Given the description of an element on the screen output the (x, y) to click on. 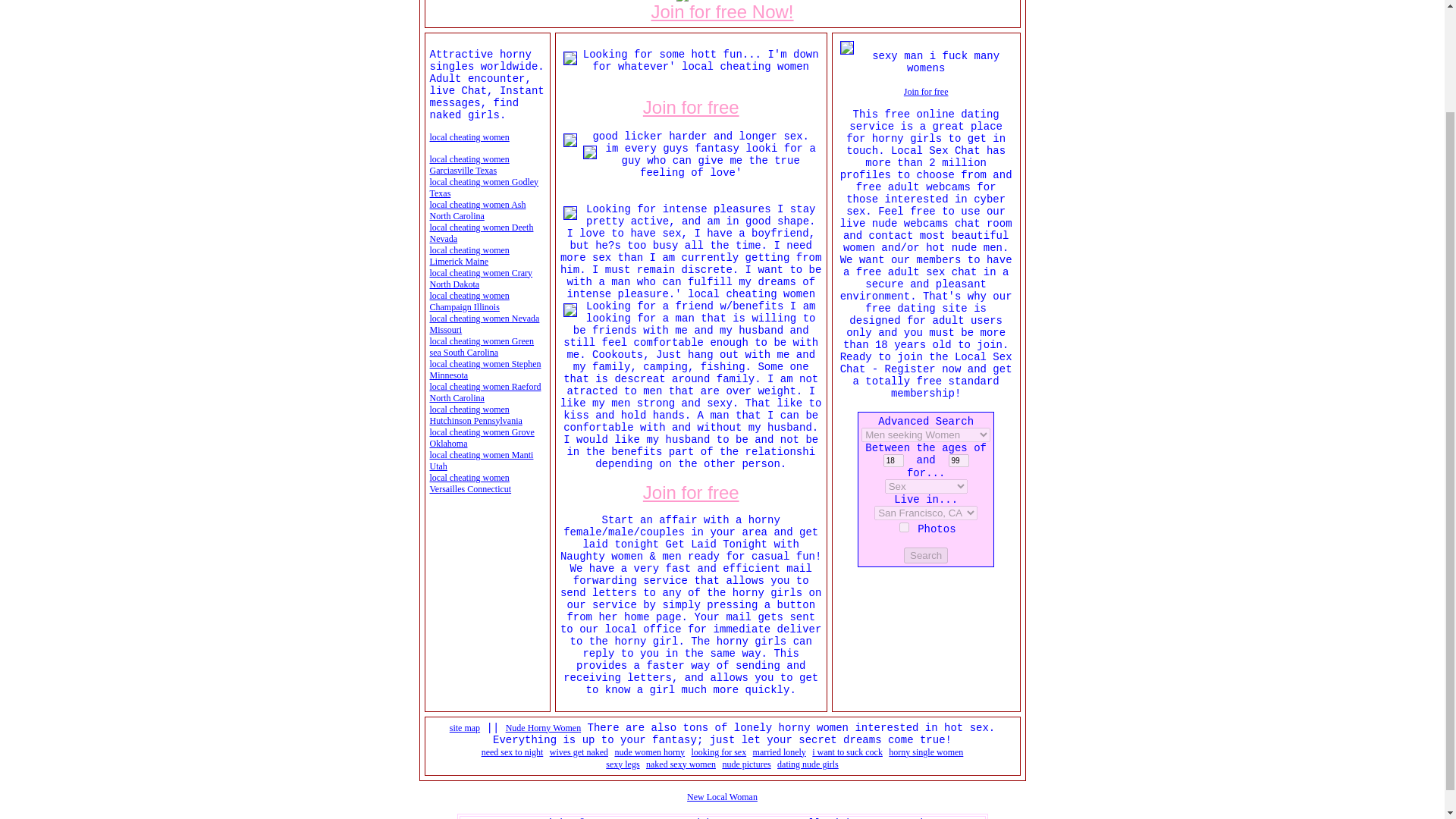
18 (893, 460)
married lonely (779, 751)
local cheating women Stephen Minnesota (484, 369)
local cheating women Crary North Dakota (480, 278)
sexy legs (622, 764)
nude pictures (746, 764)
site map (464, 727)
local cheating women Deeth Nevada (480, 232)
Search (925, 554)
Join for free (691, 106)
Join for free (926, 90)
local cheating women Manti Utah (480, 460)
naked sexy women (681, 764)
Join for free (691, 491)
wives get naked (579, 751)
